Given the description of an element on the screen output the (x, y) to click on. 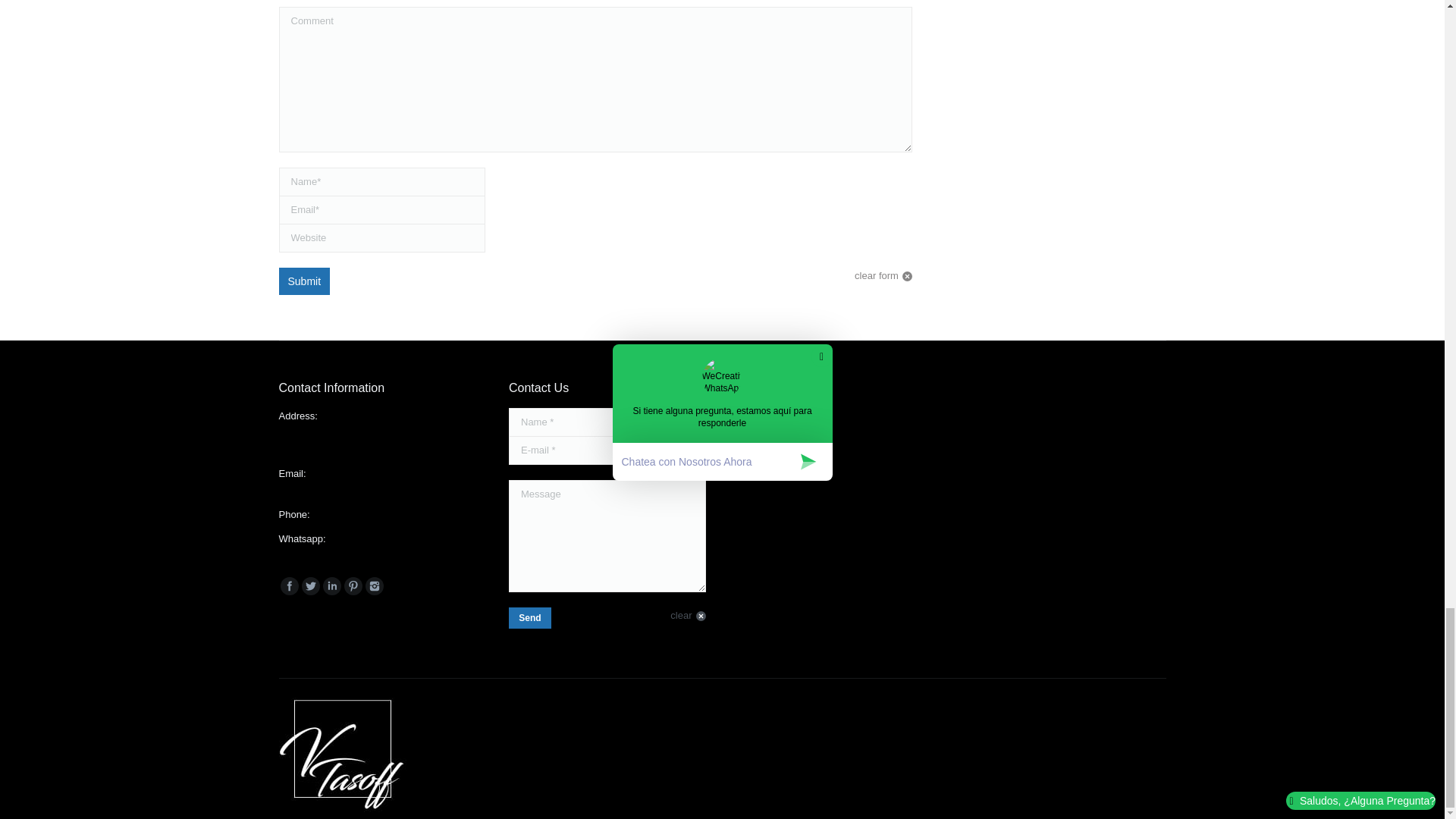
submit (583, 620)
Pinterest (352, 586)
Instagram (374, 586)
Submit (304, 280)
Facebook (289, 586)
Linkedin (331, 586)
Twitter (310, 586)
clear form (883, 275)
